Given the description of an element on the screen output the (x, y) to click on. 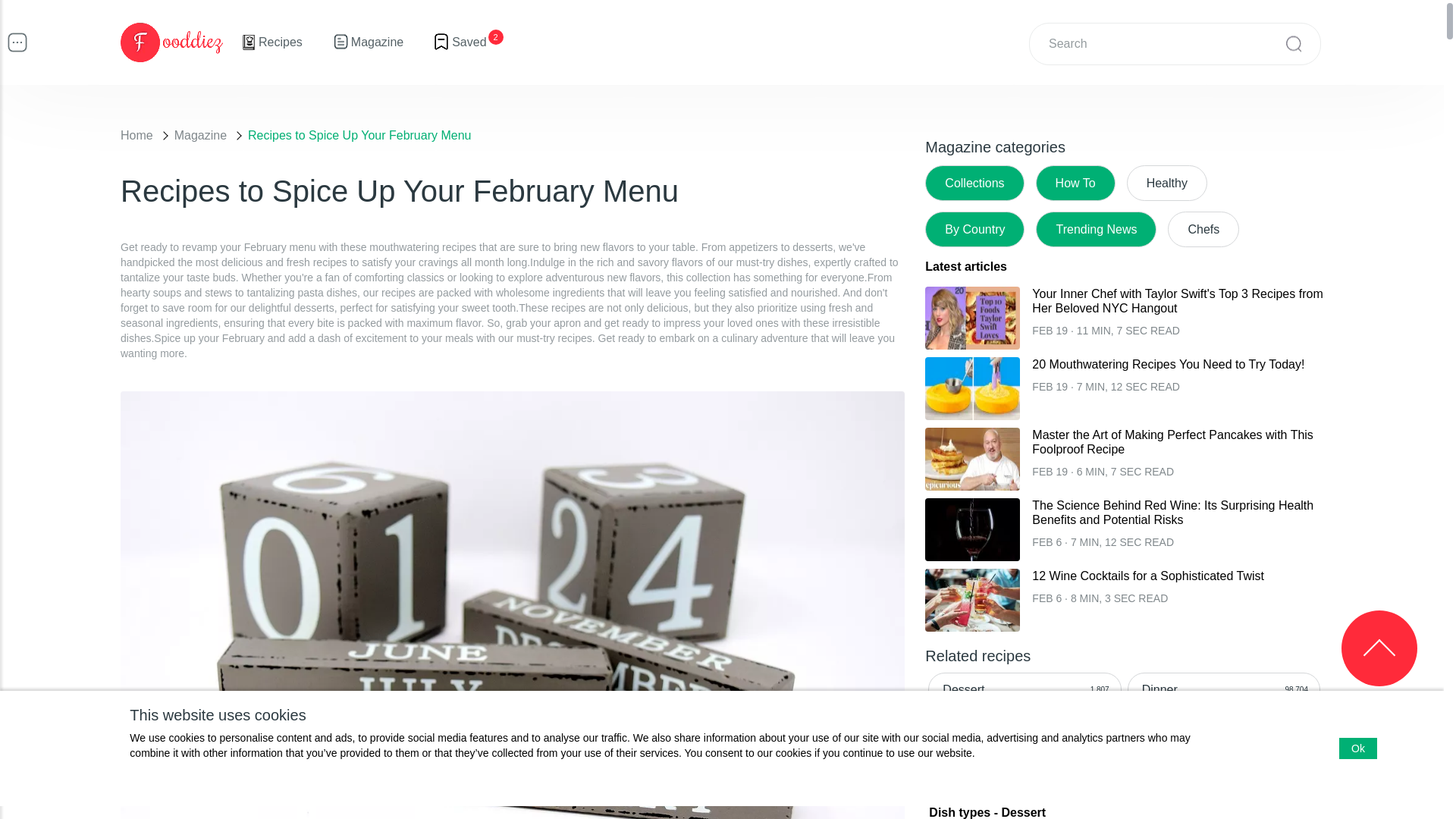
Home (136, 134)
Magazine (368, 42)
Magazine (200, 134)
Recipes (271, 42)
Saved (459, 42)
Recipes to Spice Up Your February Menu (358, 134)
